Given the description of an element on the screen output the (x, y) to click on. 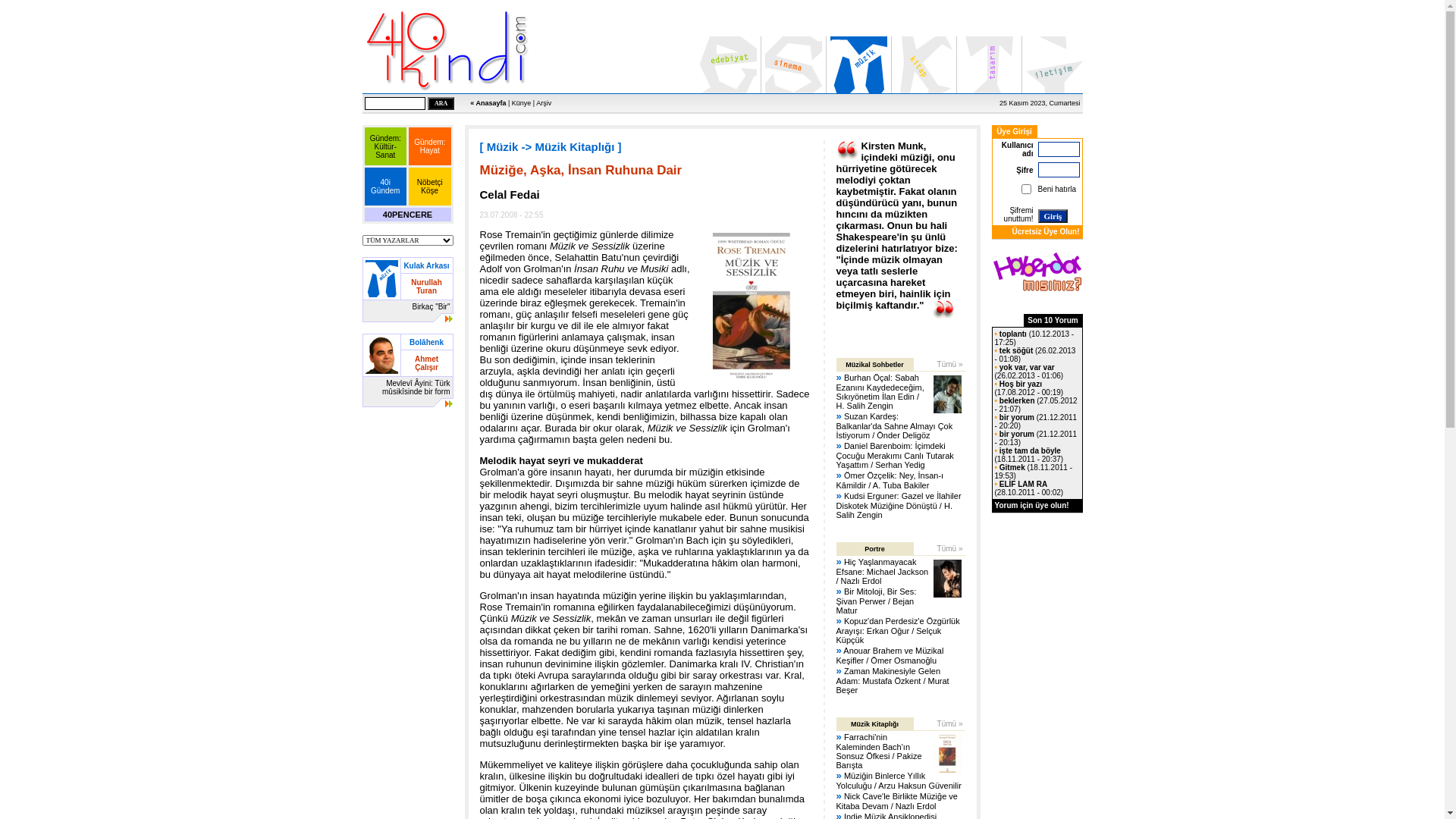
Anasayfa Element type: hover (447, 49)
beklerken (27.05.2012 - 21:07) Element type: text (1035, 404)
Kitap Element type: hover (922, 64)
Haberdar Element type: hover (1036, 271)
bir yorum (21.12.2011 - 20:13) Element type: text (1035, 437)
bir yorum (21.12.2011 - 20:20) Element type: text (1035, 421)
Sinema Element type: hover (792, 64)
Edebiyat Element type: hover (727, 64)
Nurullah Turan Element type: text (426, 285)
yok var, var var (26.02.2013 - 01:06) Element type: text (1028, 371)
ARA Element type: text (440, 103)
Gitmek (18.11.2011 - 19:53) Element type: text (1033, 471)
